Given the description of an element on the screen output the (x, y) to click on. 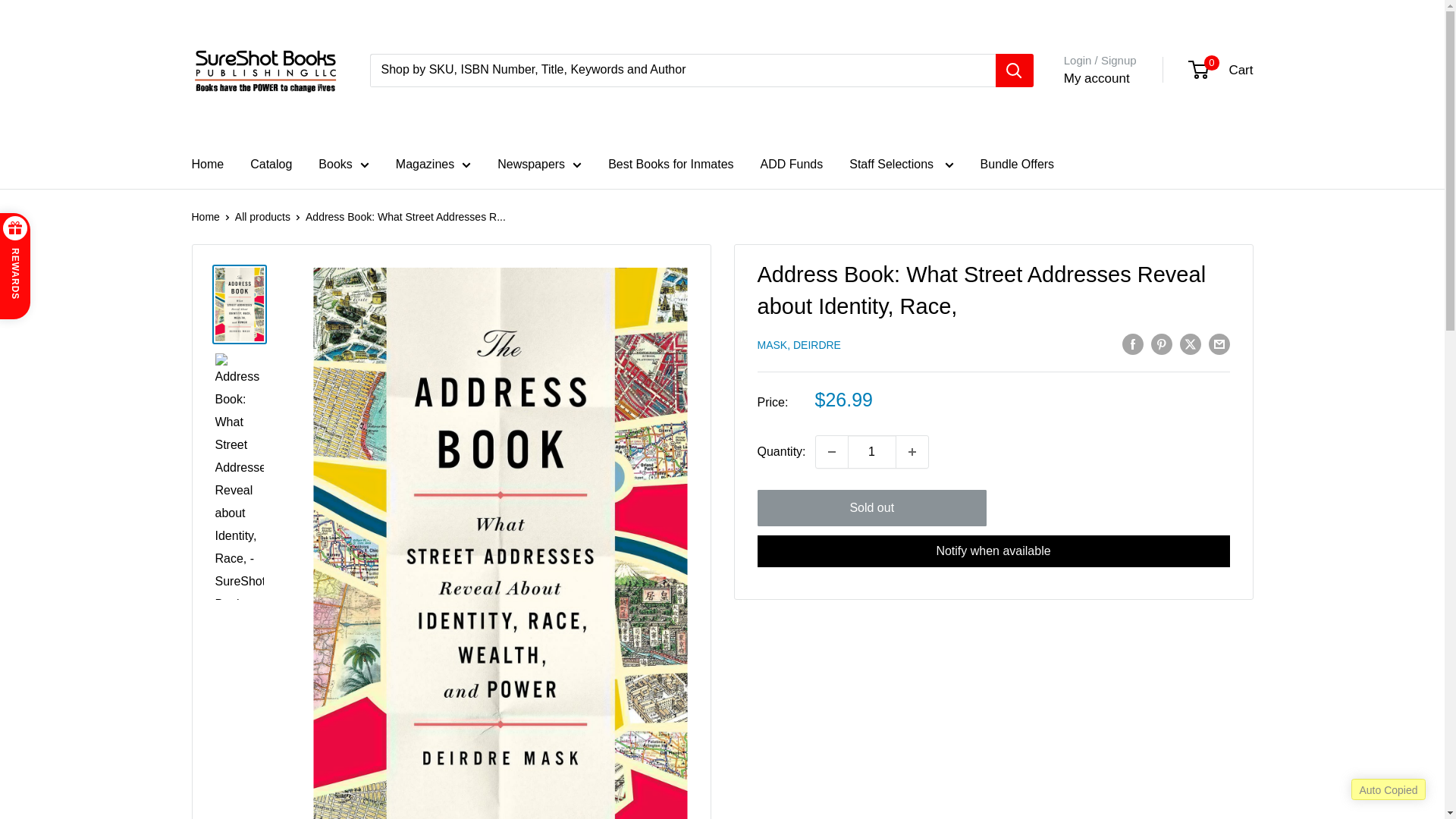
1 (871, 451)
Increase quantity by 1 (912, 451)
Decrease quantity by 1 (831, 451)
